Given the description of an element on the screen output the (x, y) to click on. 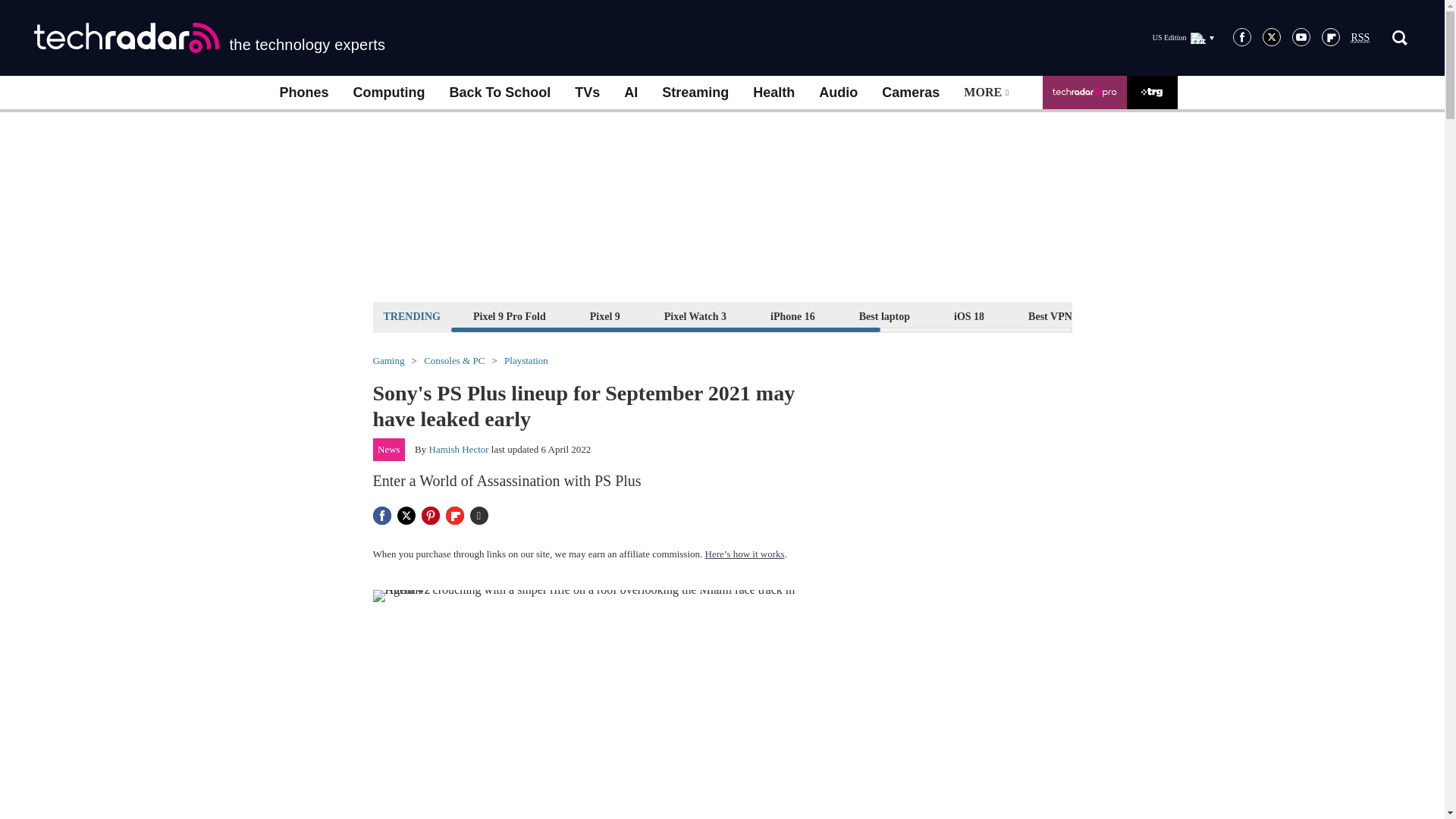
Audio (837, 92)
Really Simple Syndication (1360, 37)
Back To School (499, 92)
US Edition (1182, 37)
Streaming (695, 92)
Health (773, 92)
Cameras (910, 92)
TVs (586, 92)
AI (630, 92)
Phones (303, 92)
